Given the description of an element on the screen output the (x, y) to click on. 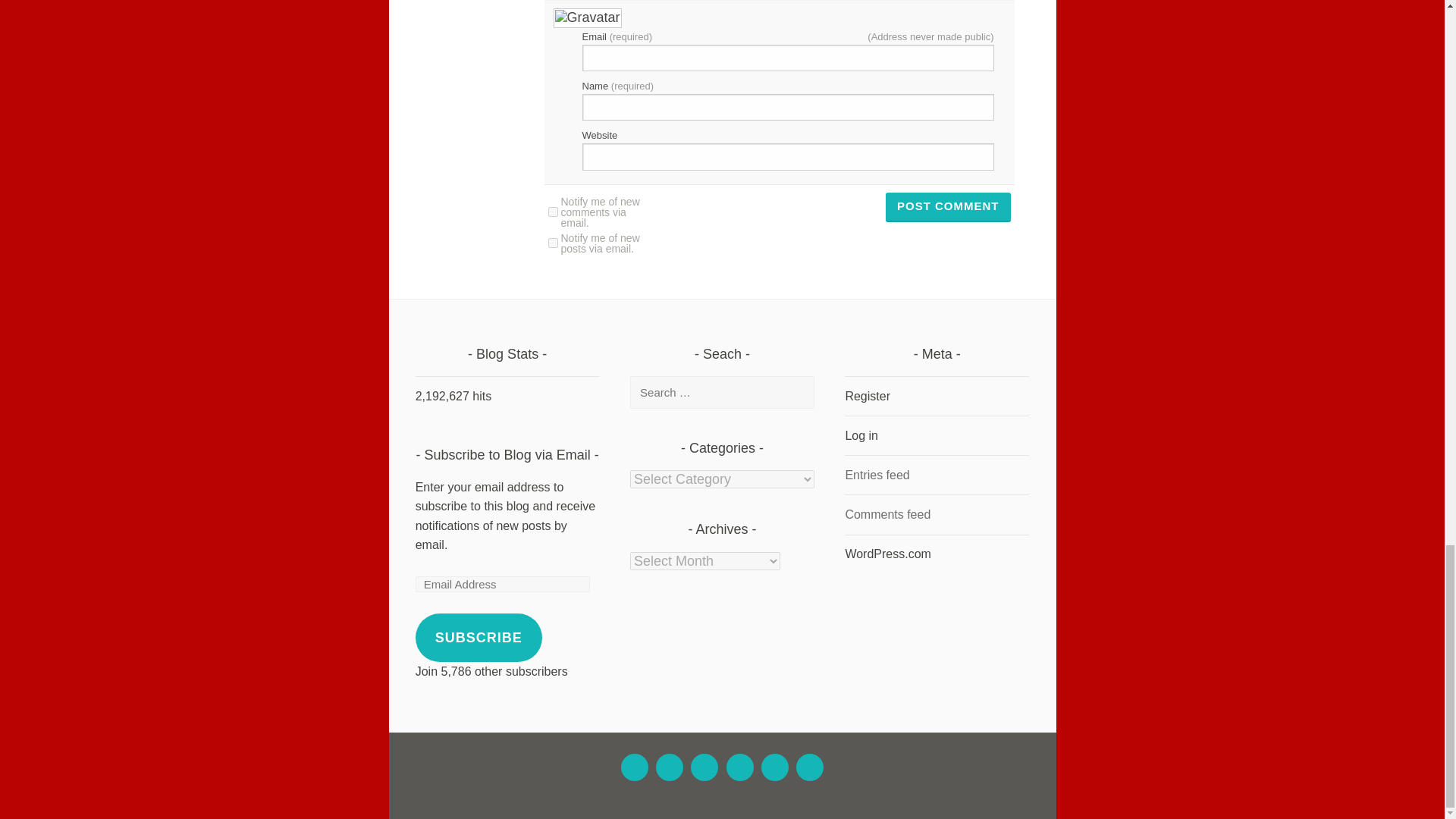
subscribe (552, 212)
Post Comment (947, 207)
subscribe (552, 243)
